Given the description of an element on the screen output the (x, y) to click on. 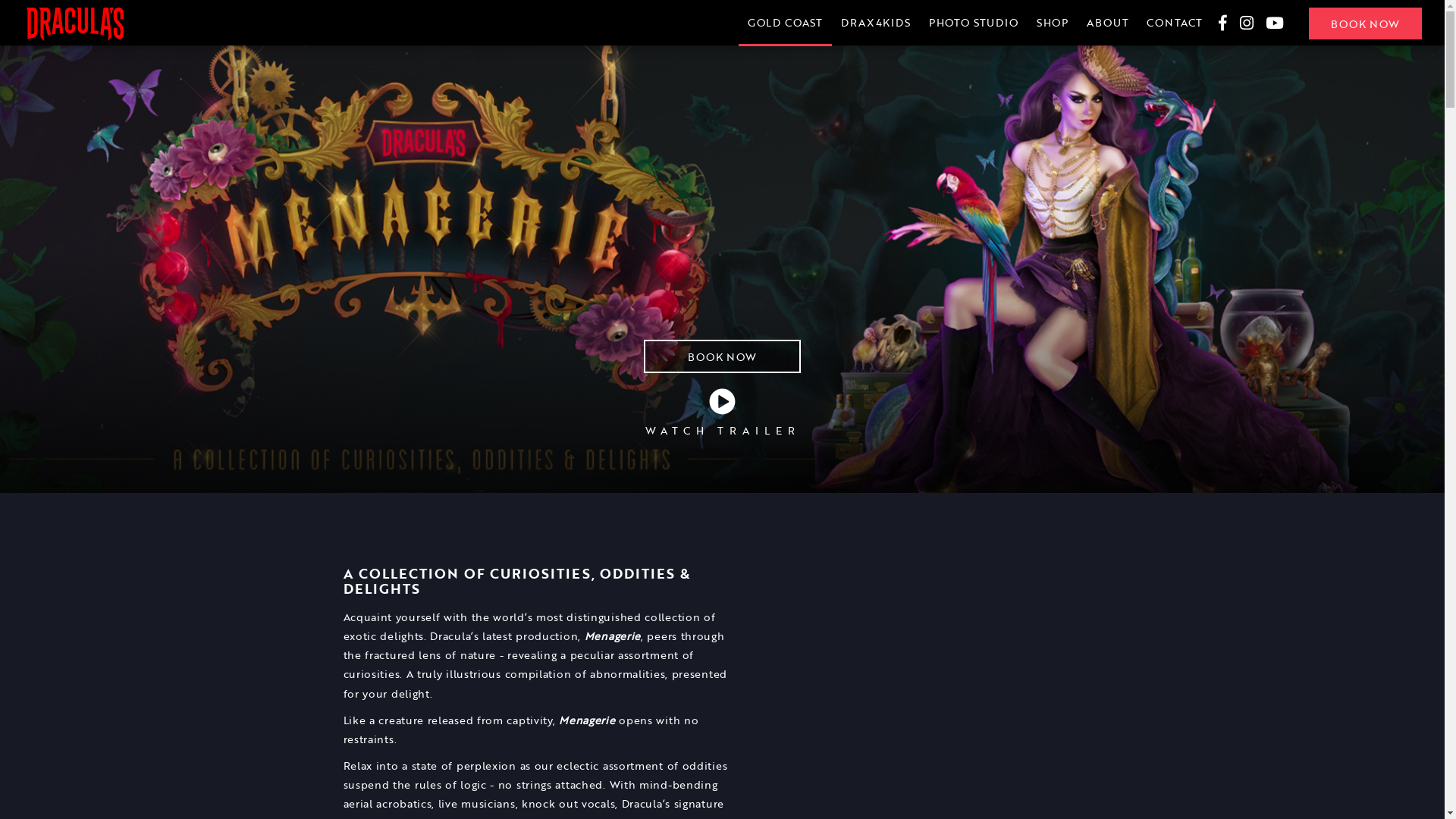
WATCH TRAILER Element type: text (721, 412)
GOLD COAST Element type: text (784, 22)
Draculas Element type: hover (74, 23)
DRAX4KIDS Element type: text (875, 22)
SHOP Element type: text (1052, 22)
CONTACT Element type: text (1174, 22)
Instagram Element type: hover (1248, 23)
PHOTO STUDIO Element type: text (973, 22)
BOOK NOW Element type: text (1364, 23)
Facebook Element type: hover (1223, 23)
BOOK NOW Element type: text (721, 356)
Youtube Element type: hover (1274, 23)
